Given the description of an element on the screen output the (x, y) to click on. 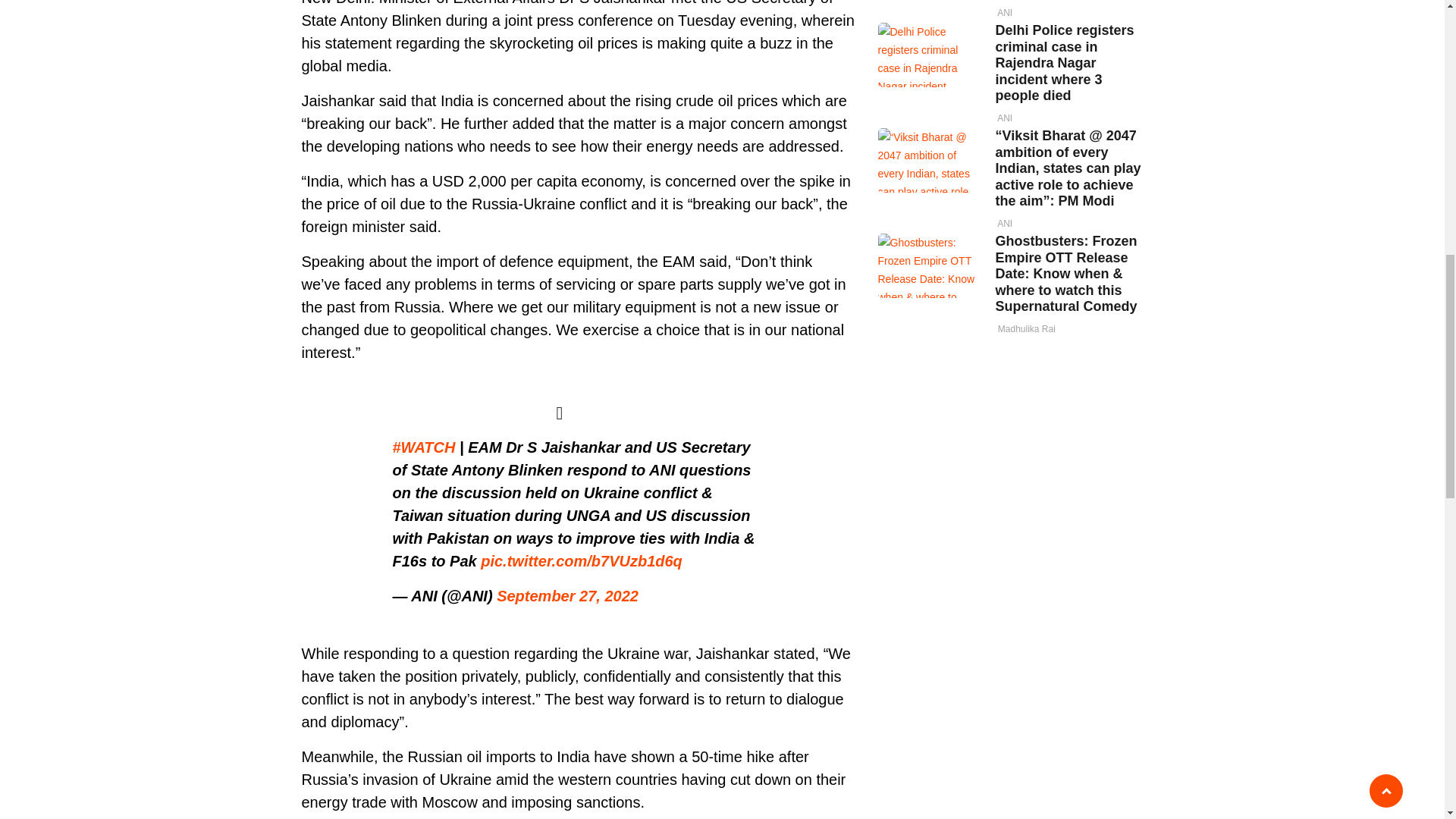
September 27, 2022 (567, 596)
